Given the description of an element on the screen output the (x, y) to click on. 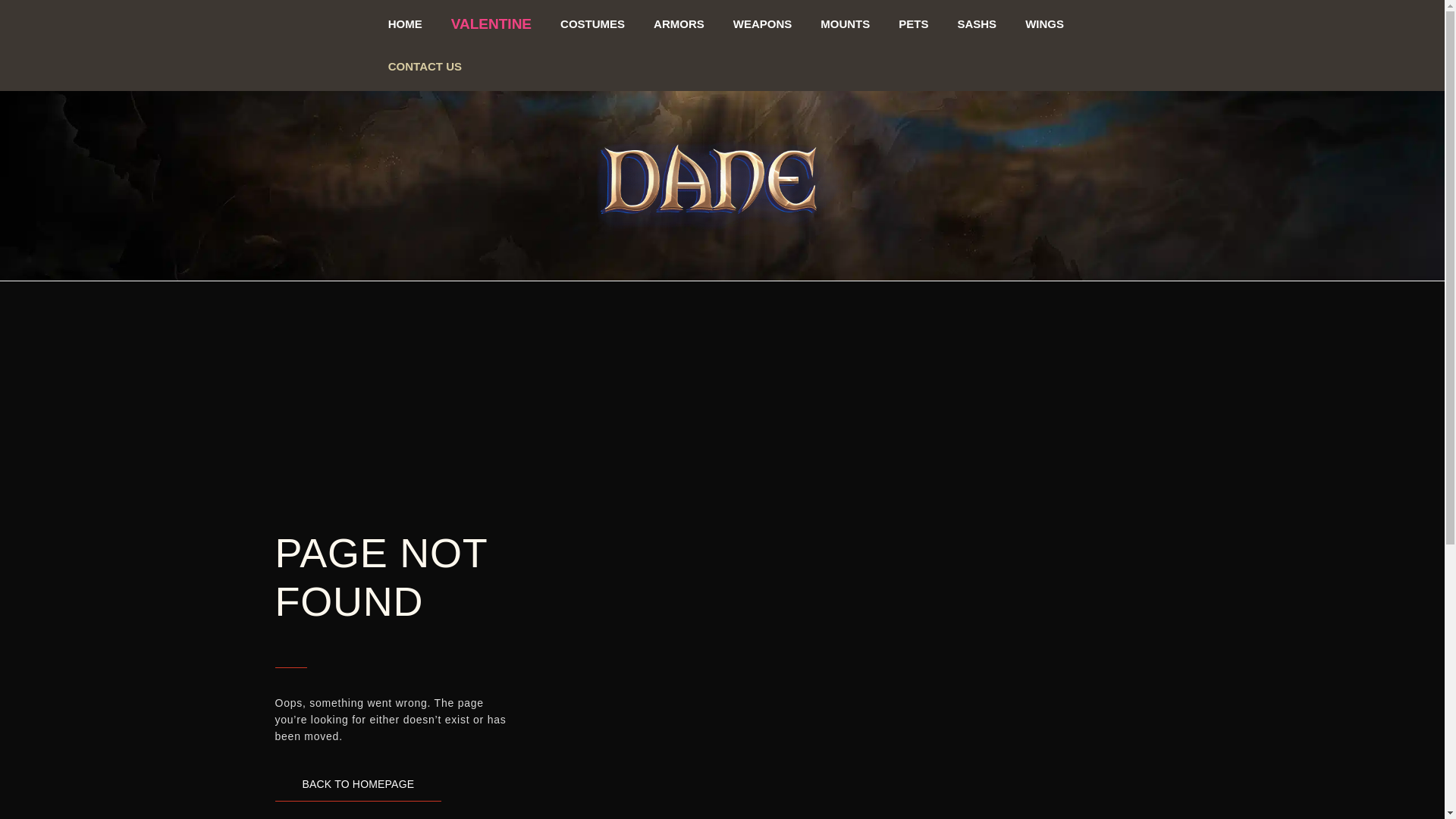
VALENTINE (485, 23)
SASHS (986, 22)
PETS (919, 22)
WEAPONS (762, 22)
HOME (400, 23)
COSTUMES (587, 23)
ARMORS (676, 22)
MOUNTS (847, 22)
WINGS (1056, 22)
CONTACT US (409, 66)
